Given the description of an element on the screen output the (x, y) to click on. 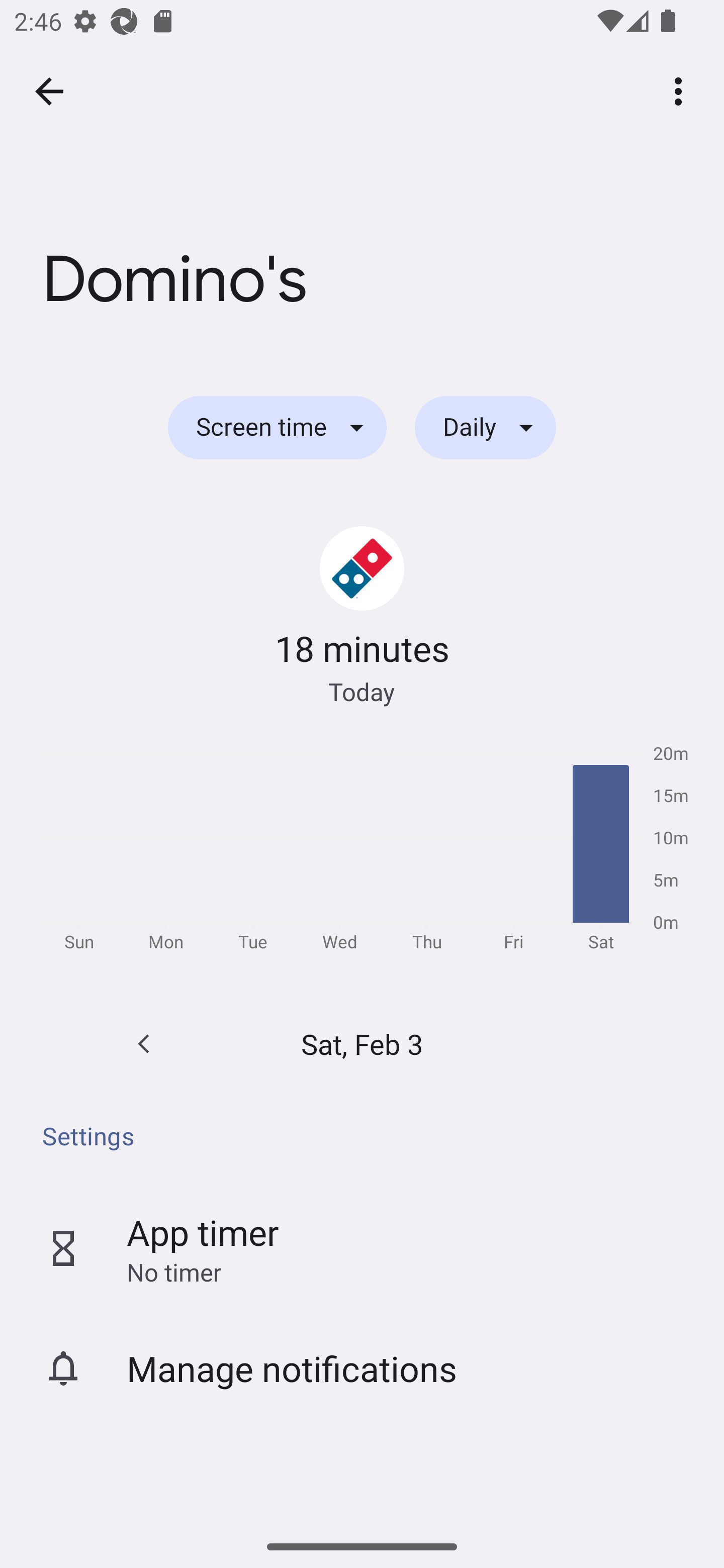
Navigate up (49, 91)
More options (681, 90)
Screen time (276, 427)
Daily (485, 427)
Go to the previous day (143, 1043)
App timer No timer (362, 1248)
Manage notifications (362, 1368)
